Given the description of an element on the screen output the (x, y) to click on. 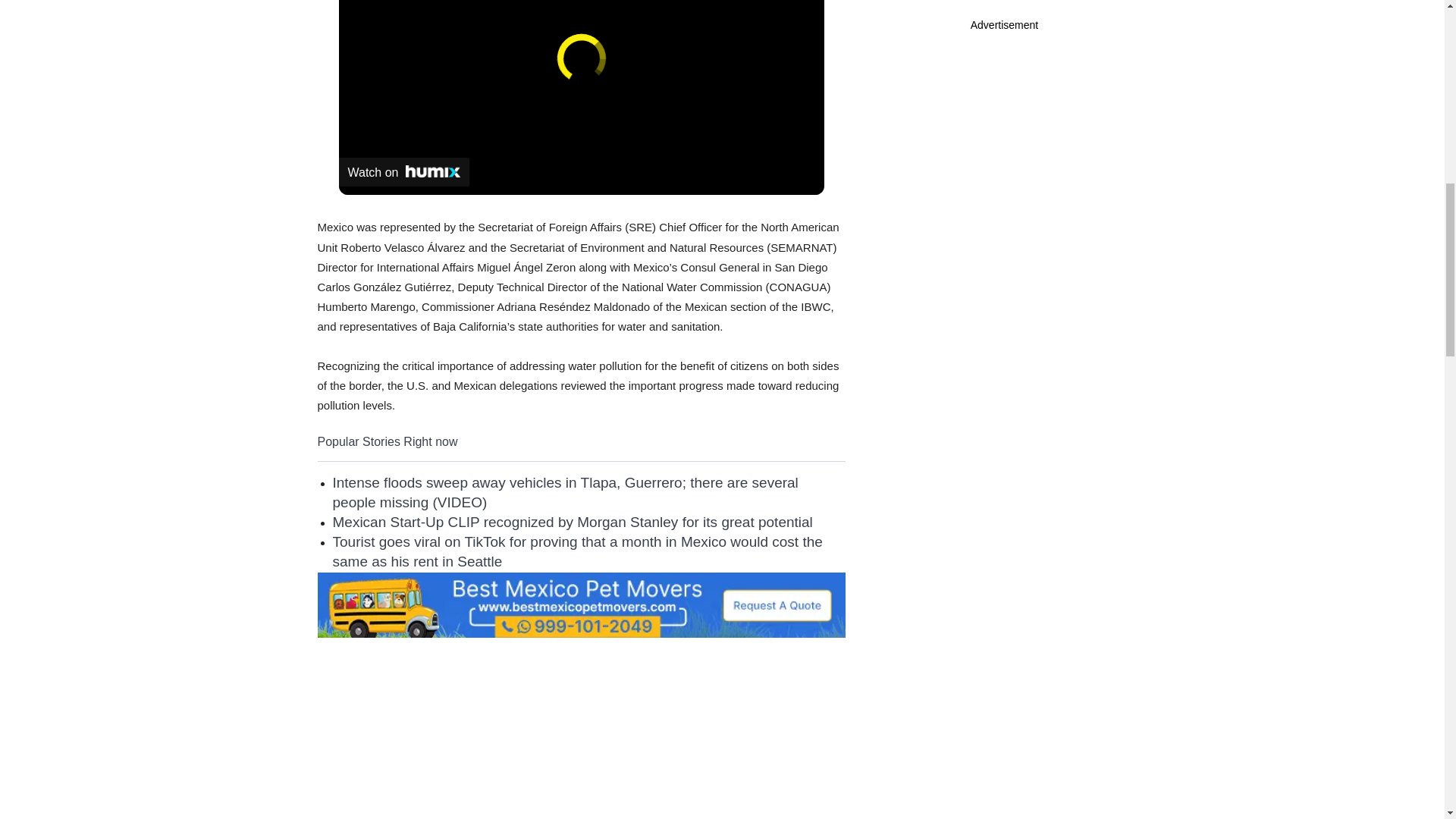
Watch on (402, 172)
